Given the description of an element on the screen output the (x, y) to click on. 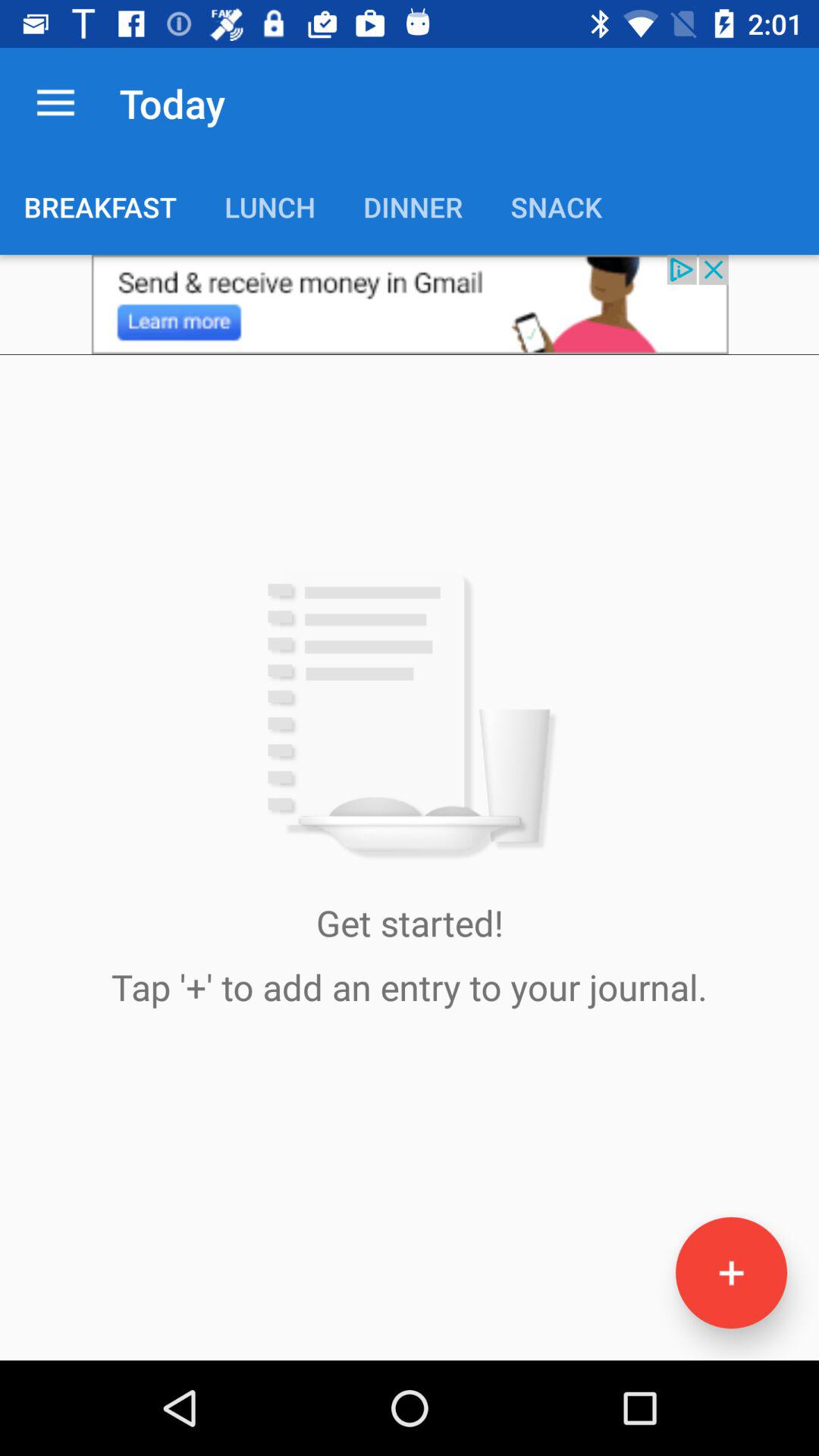
select advertisement (409, 304)
